Given the description of an element on the screen output the (x, y) to click on. 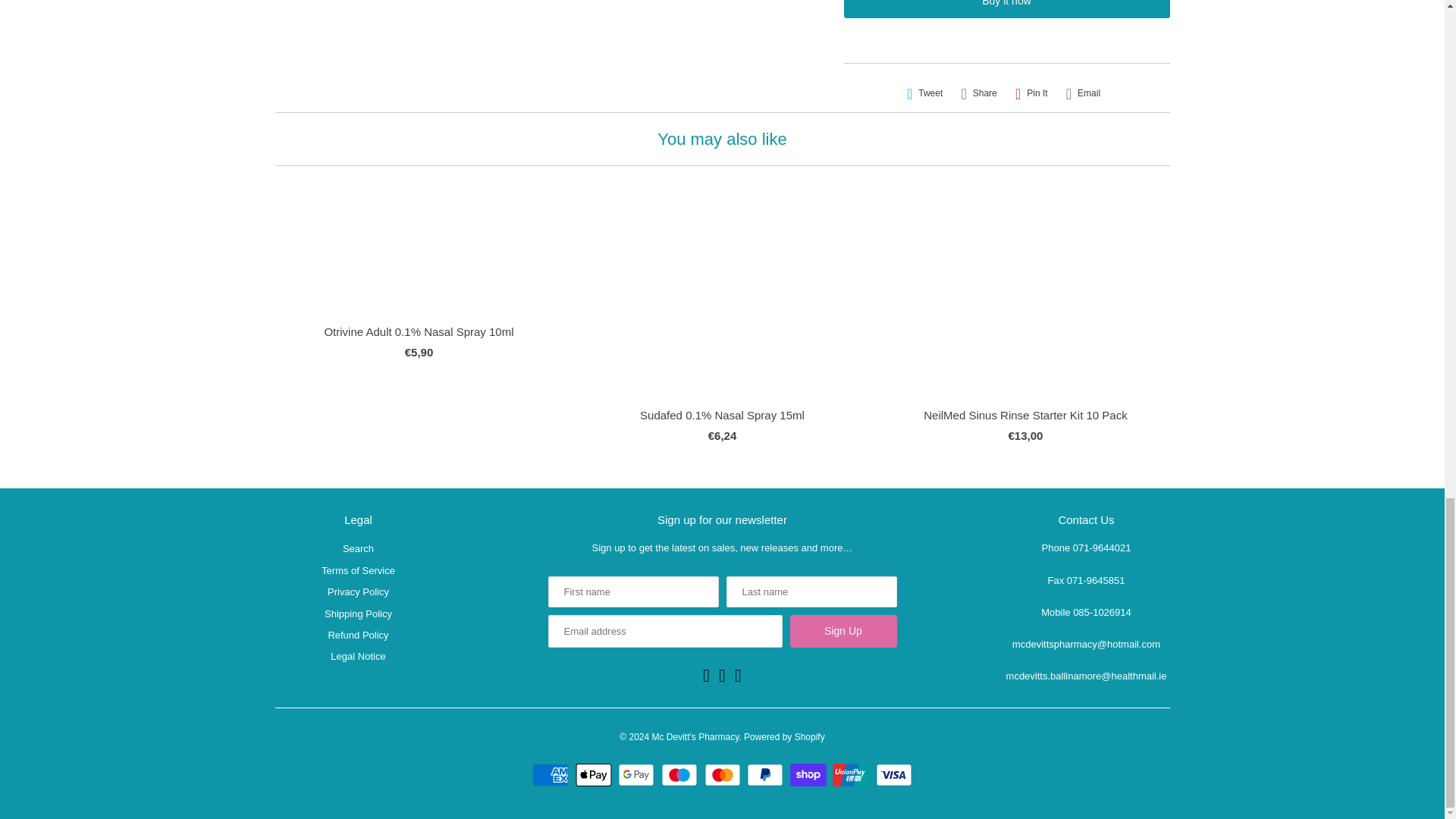
Mastercard (723, 774)
Apple Pay (595, 774)
Share this on Pinterest (1031, 93)
Maestro (681, 774)
Sign Up (843, 631)
Share this on Facebook (978, 93)
Shop Pay (809, 774)
Visa (894, 774)
Email this to a friend (1083, 93)
Union Pay (852, 774)
American Express (552, 774)
Google Pay (637, 774)
Share this on Twitter (924, 93)
PayPal (766, 774)
